Given the description of an element on the screen output the (x, y) to click on. 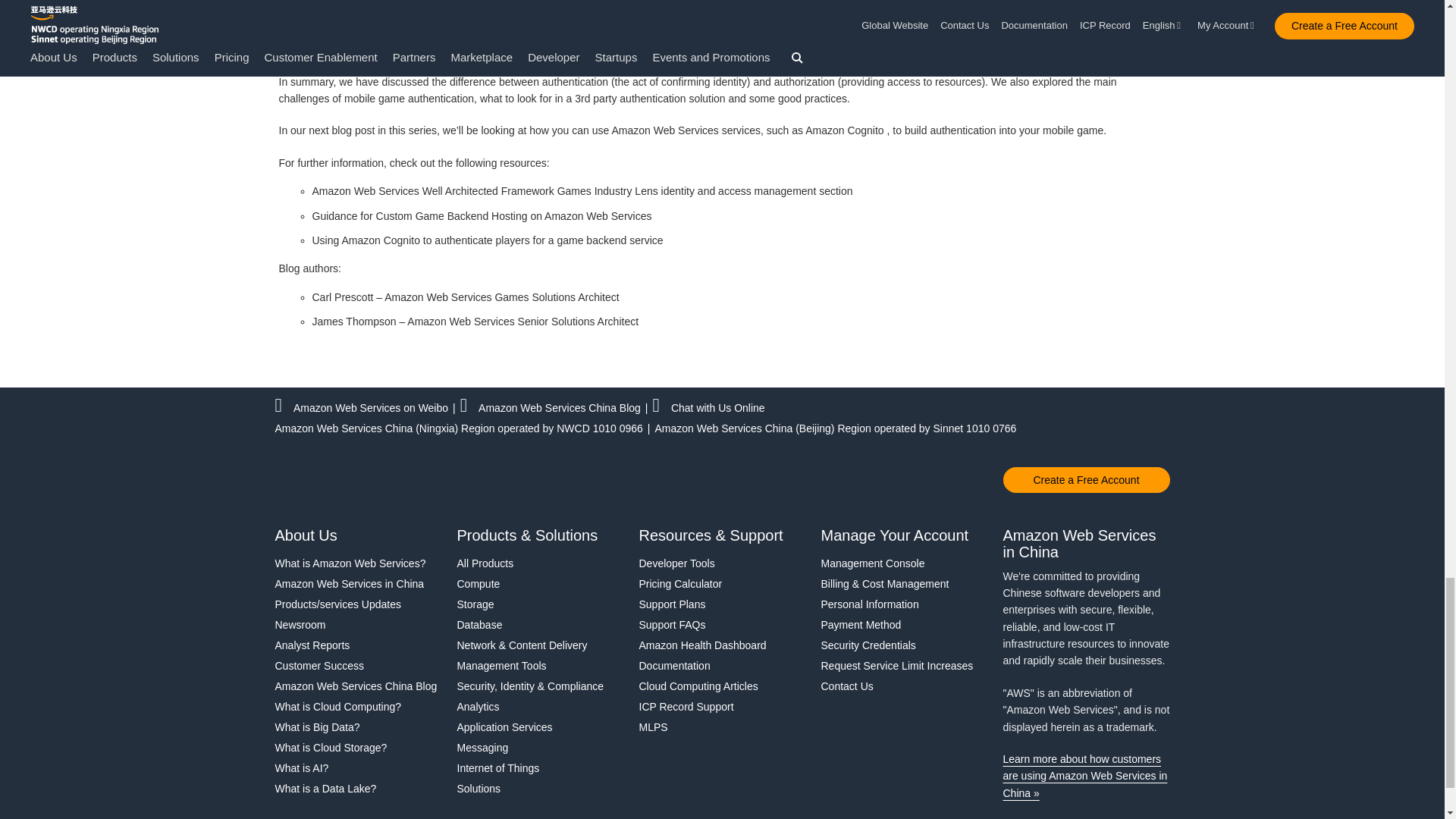
Newsroom (358, 624)
What's New (358, 604)
What is a Data Lake? (358, 788)
Customer Success (358, 665)
Amazon Web Services China Blog (358, 686)
What is Cloud Computing? (358, 706)
What is Cloud Storage? (358, 747)
Analyst Reports (358, 645)
What is Big Data? (358, 727)
Amazon Web Services in China (358, 583)
What is Amazon Web Services? (358, 563)
What is AI? (358, 768)
